Given the description of an element on the screen output the (x, y) to click on. 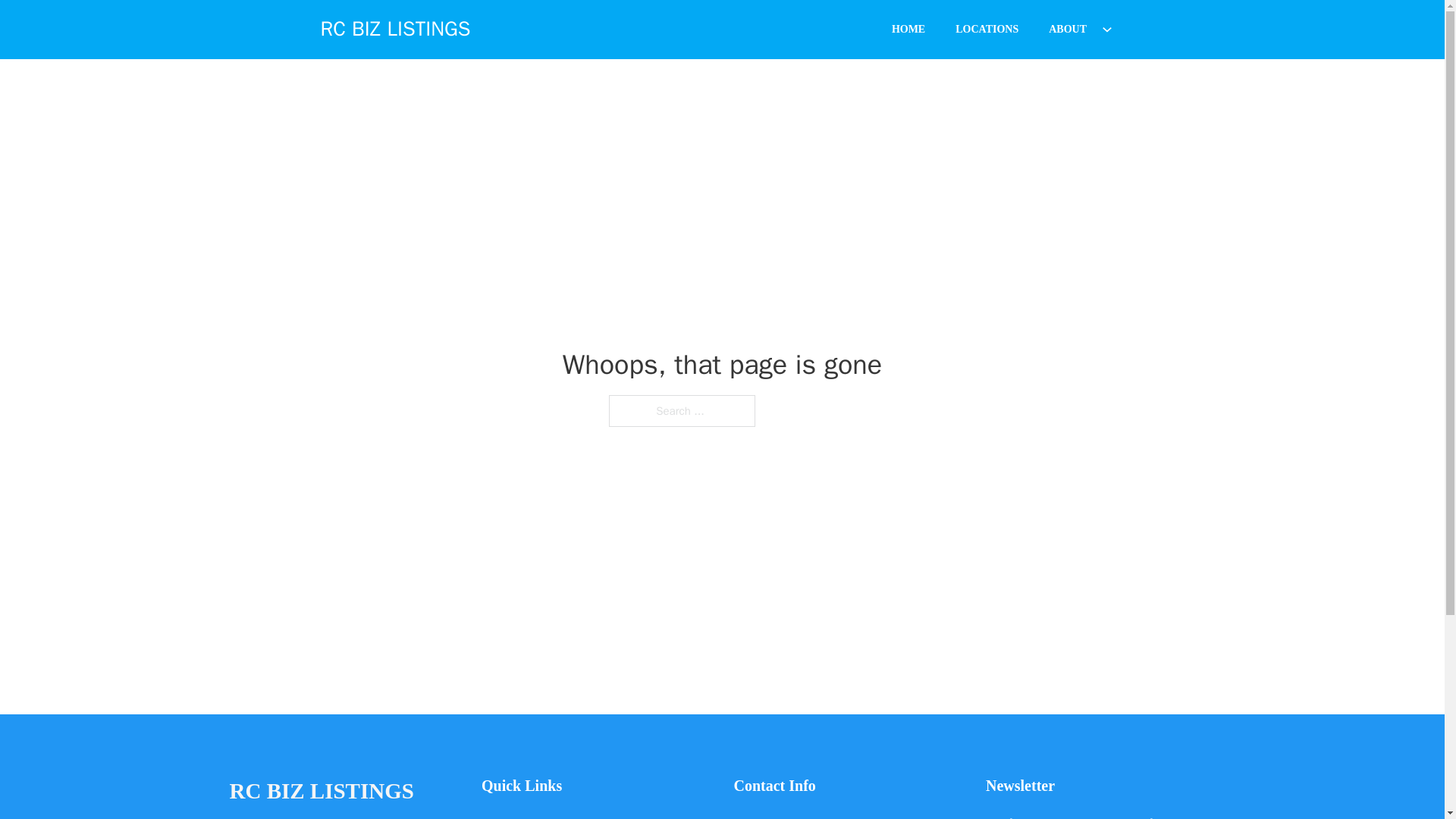
Home (496, 816)
LOCATIONS (987, 29)
HOME (908, 29)
RC BIZ LISTINGS (395, 28)
RC BIZ LISTINGS (320, 791)
